Given the description of an element on the screen output the (x, y) to click on. 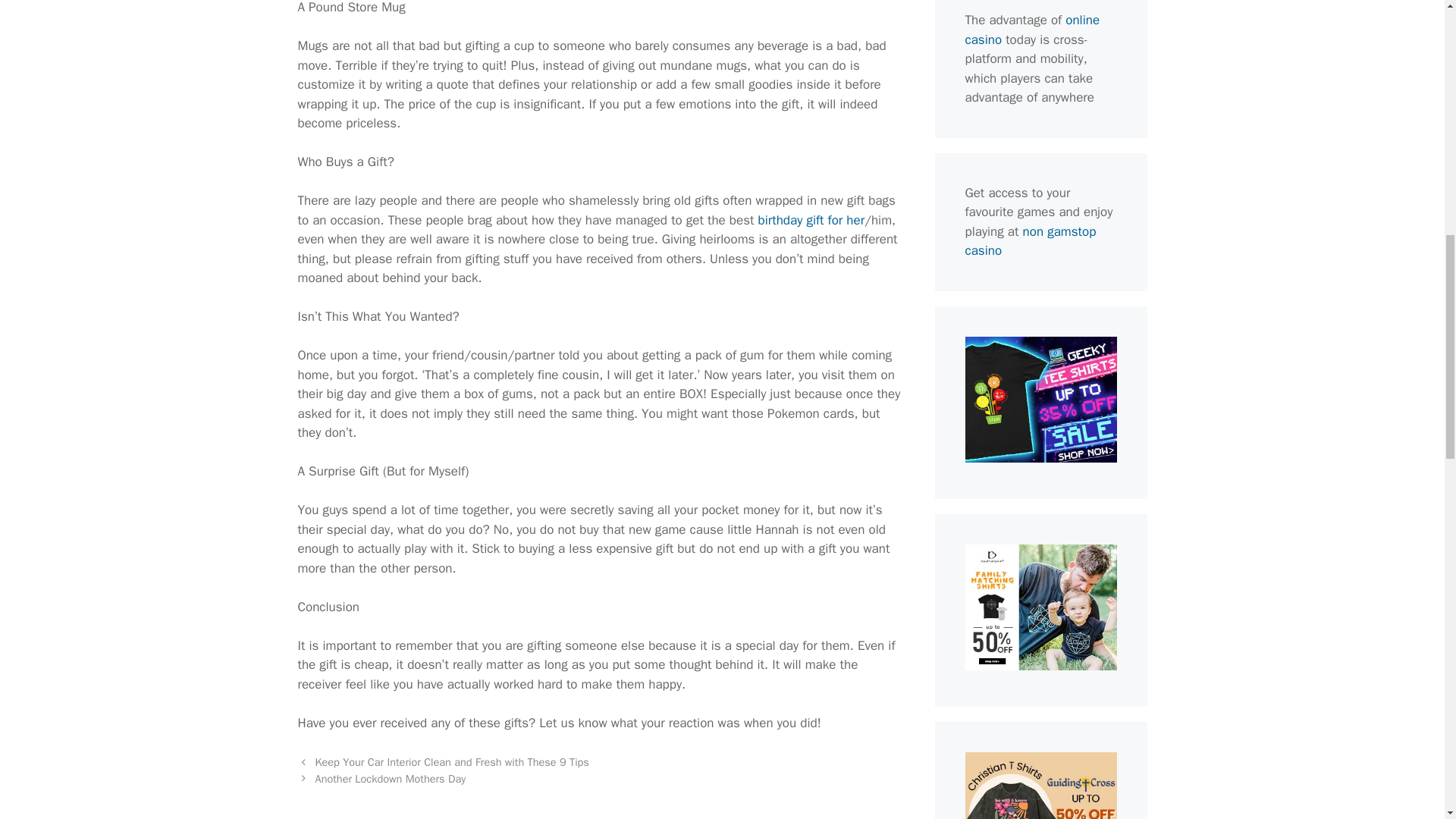
family matching shirts (1039, 666)
non gamstop casino (1029, 240)
Keep Your Car Interior Clean and Fresh with These 9 Tips (452, 762)
birthday gift for her (811, 220)
Another Lockdown Mothers Day (390, 778)
online casino (1031, 29)
geek t shirt (1039, 458)
Scroll back to top (1406, 720)
